Given the description of an element on the screen output the (x, y) to click on. 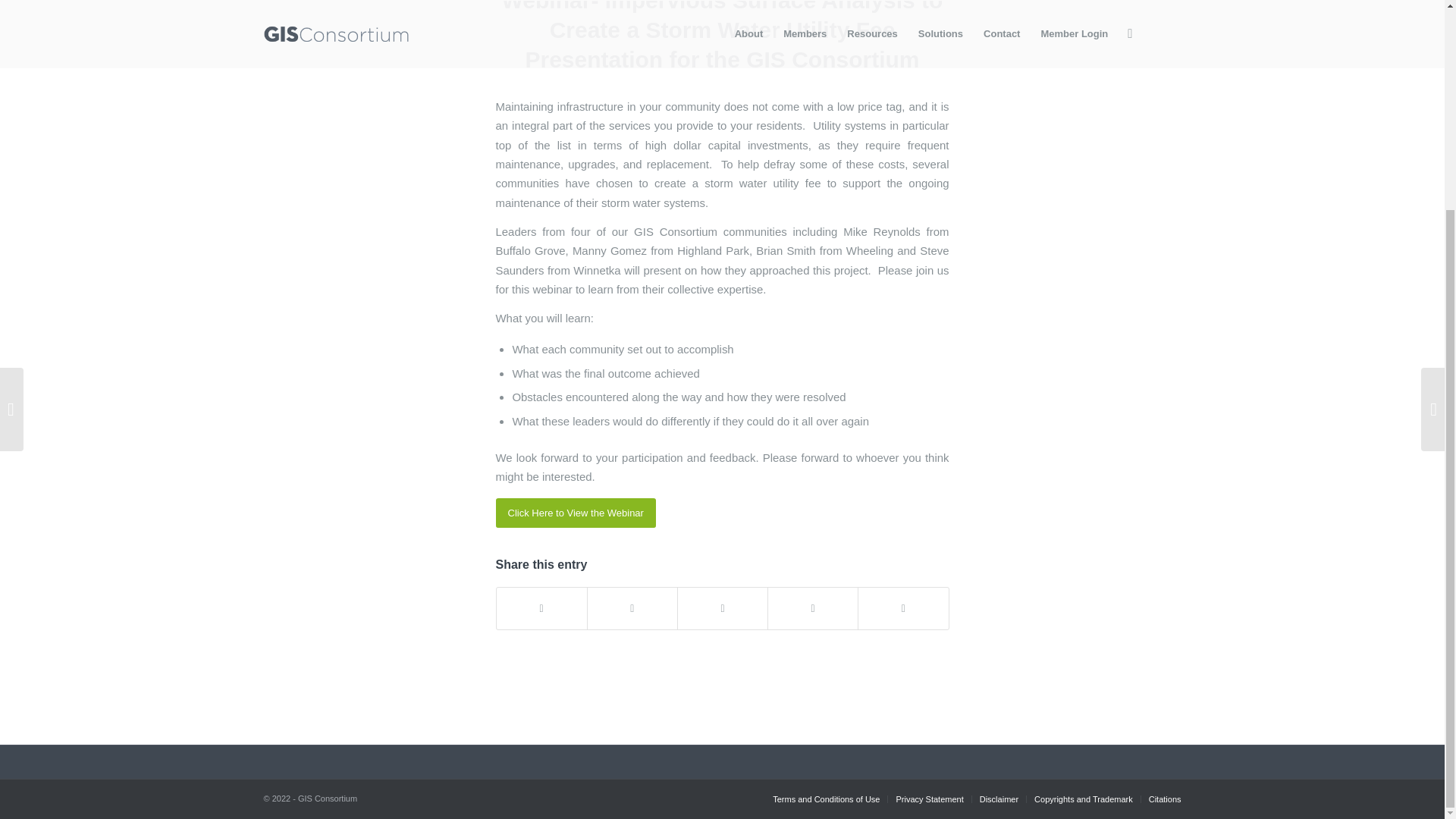
Disclaimer (998, 798)
Copyrights and Trademark (1082, 798)
Privacy Statement (928, 798)
Citations (1164, 798)
Click Here to View the Webinar (576, 512)
Terms and Conditions of Use (826, 798)
